Given the description of an element on the screen output the (x, y) to click on. 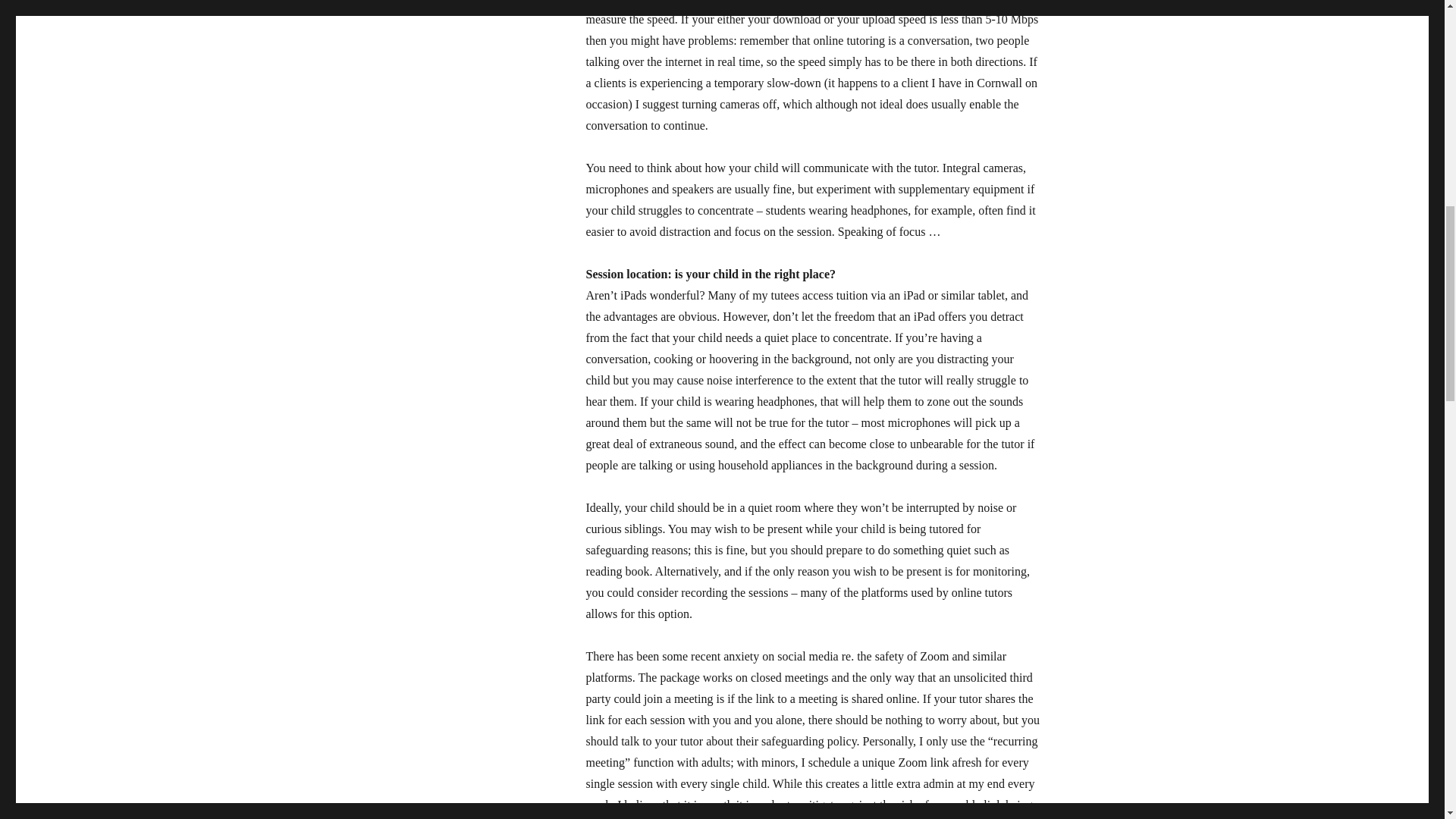
speed test (630, 2)
